Given the description of an element on the screen output the (x, y) to click on. 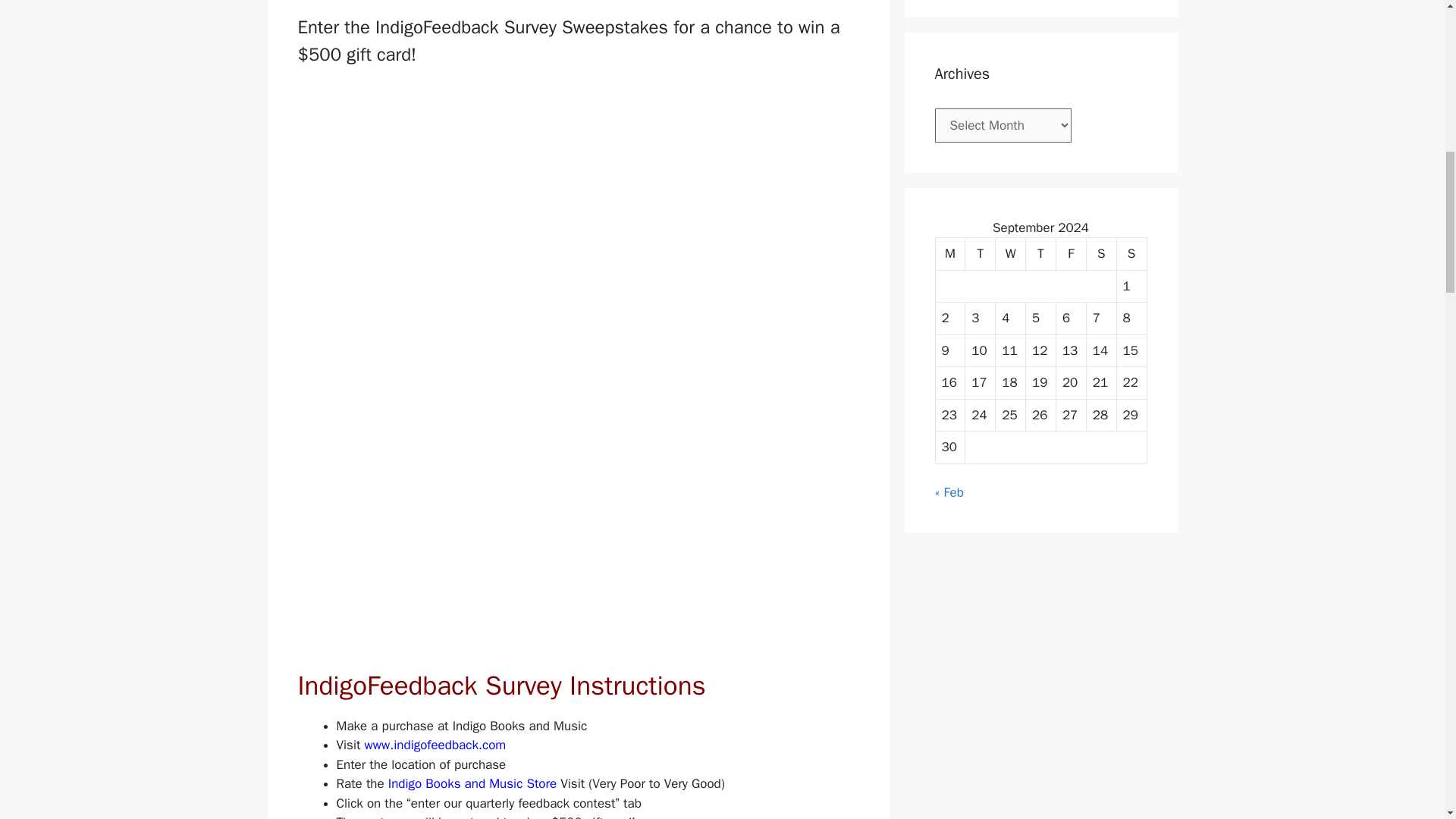
www.indigofeedback.com (435, 744)
Tuesday (980, 254)
Sunday (1131, 254)
Monday (951, 254)
Friday (1071, 254)
Indigo Books and Music Store (472, 783)
Thursday (1041, 254)
Wednesday (1010, 254)
Saturday (1101, 254)
